Given the description of an element on the screen output the (x, y) to click on. 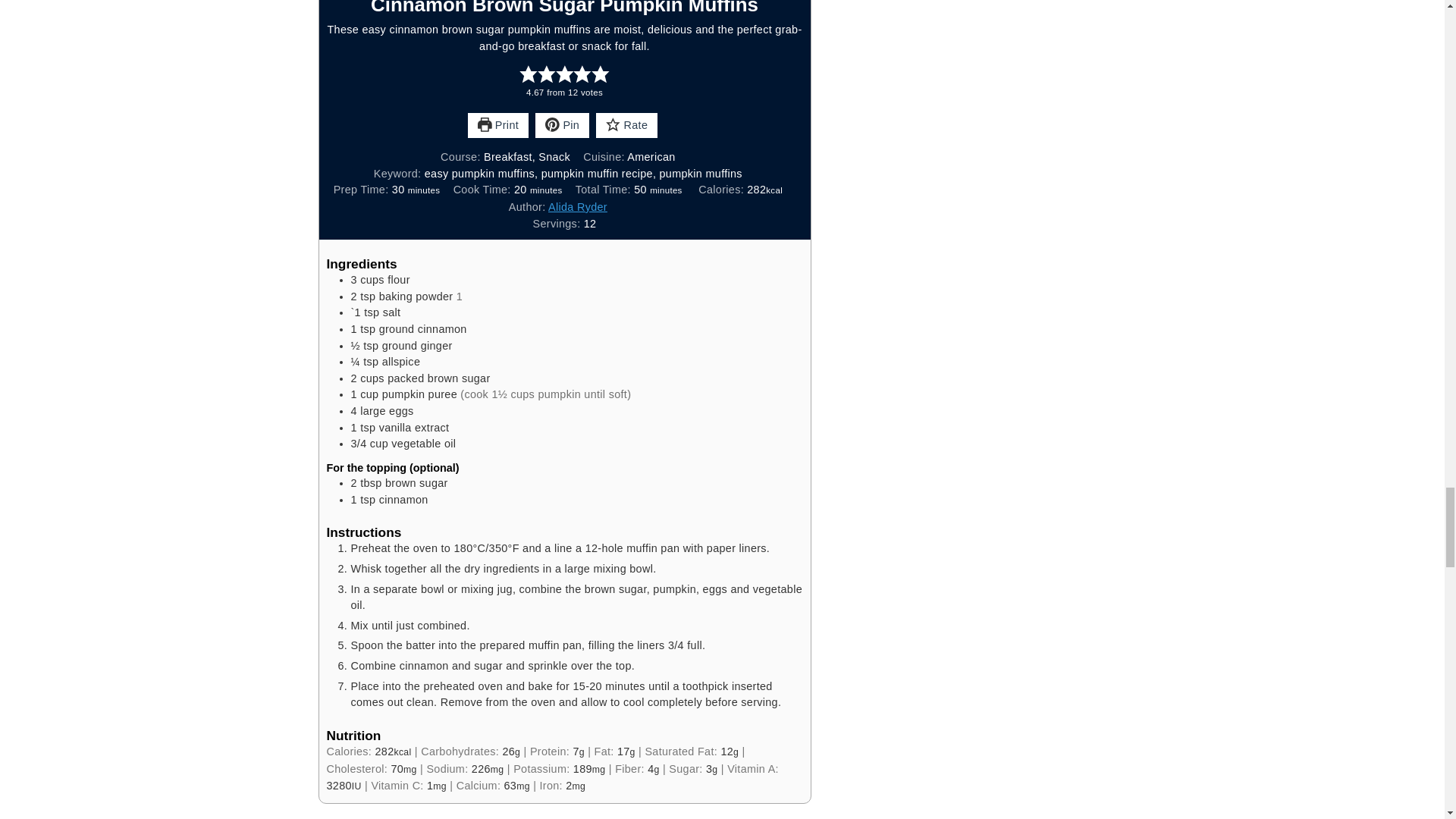
Print (497, 125)
Alida Ryder (577, 206)
Rate (626, 125)
Pin (562, 125)
